Given the description of an element on the screen output the (x, y) to click on. 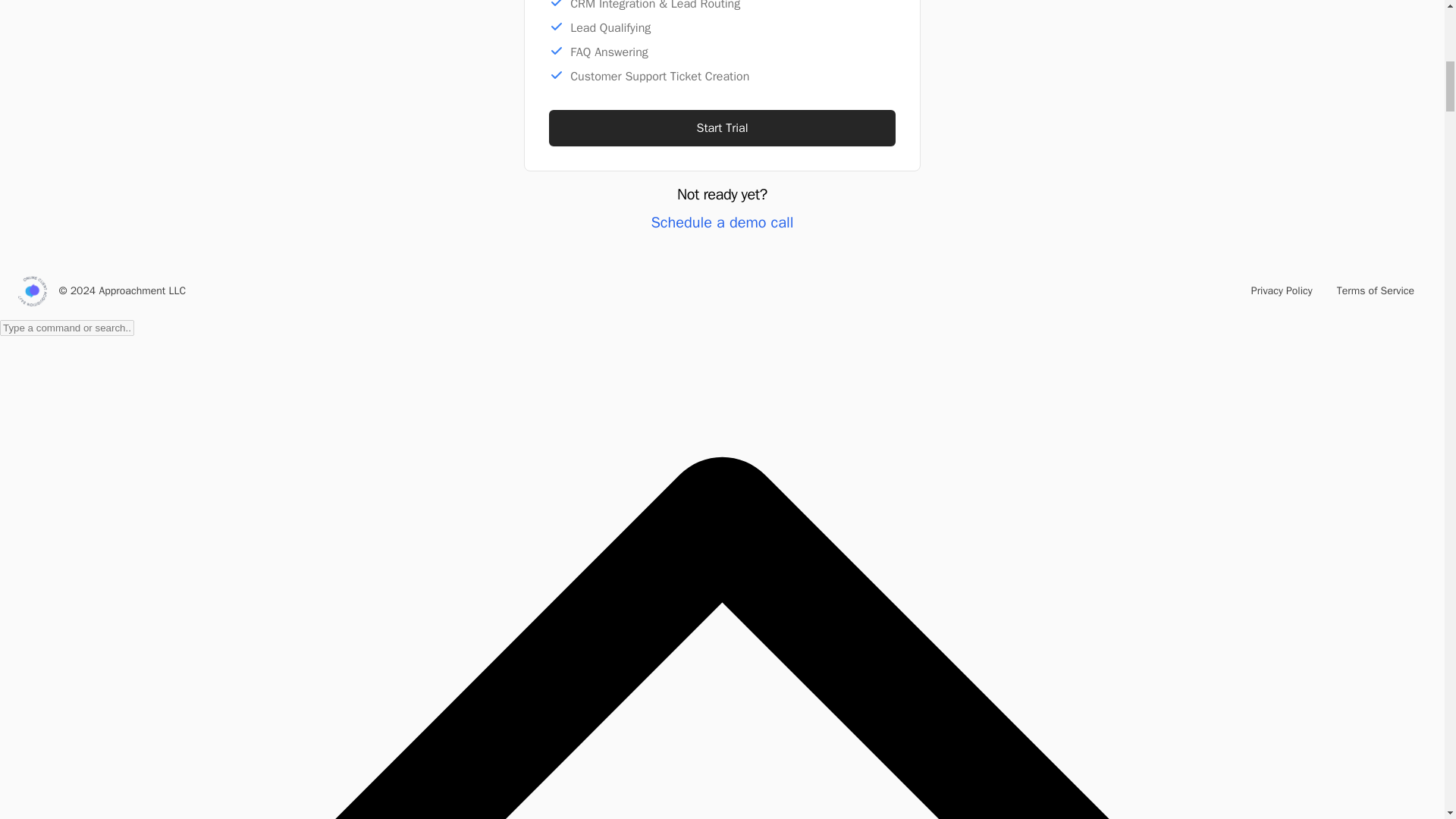
Terms of Service (1375, 290)
Approachment (31, 291)
Start Trial (721, 127)
Privacy Policy (1281, 290)
Schedule a demo call (721, 221)
